Given the description of an element on the screen output the (x, y) to click on. 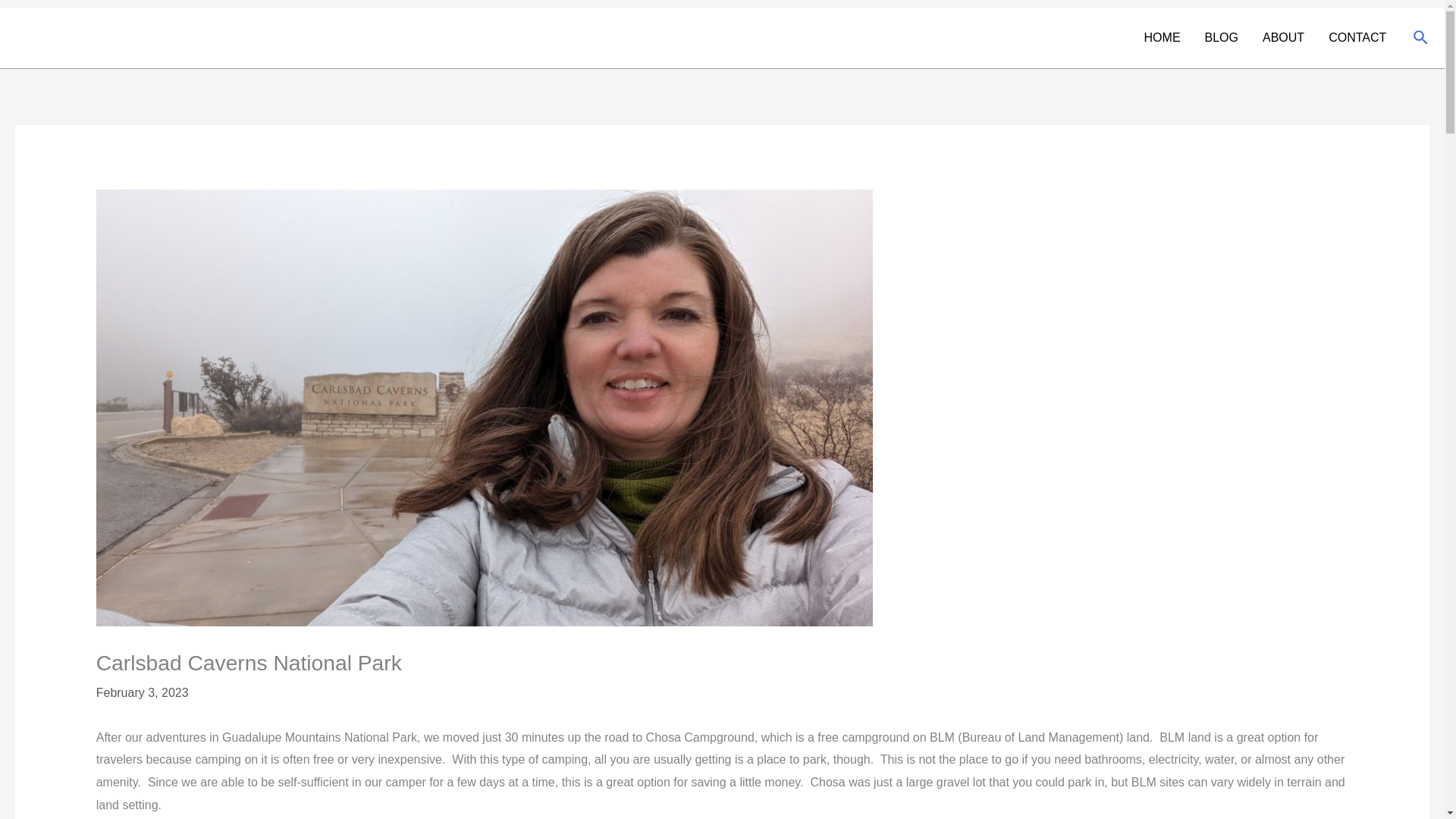
CONTACT (1356, 37)
HOME (1162, 37)
BLOG (1221, 37)
ABOUT (1283, 37)
